Given the description of an element on the screen output the (x, y) to click on. 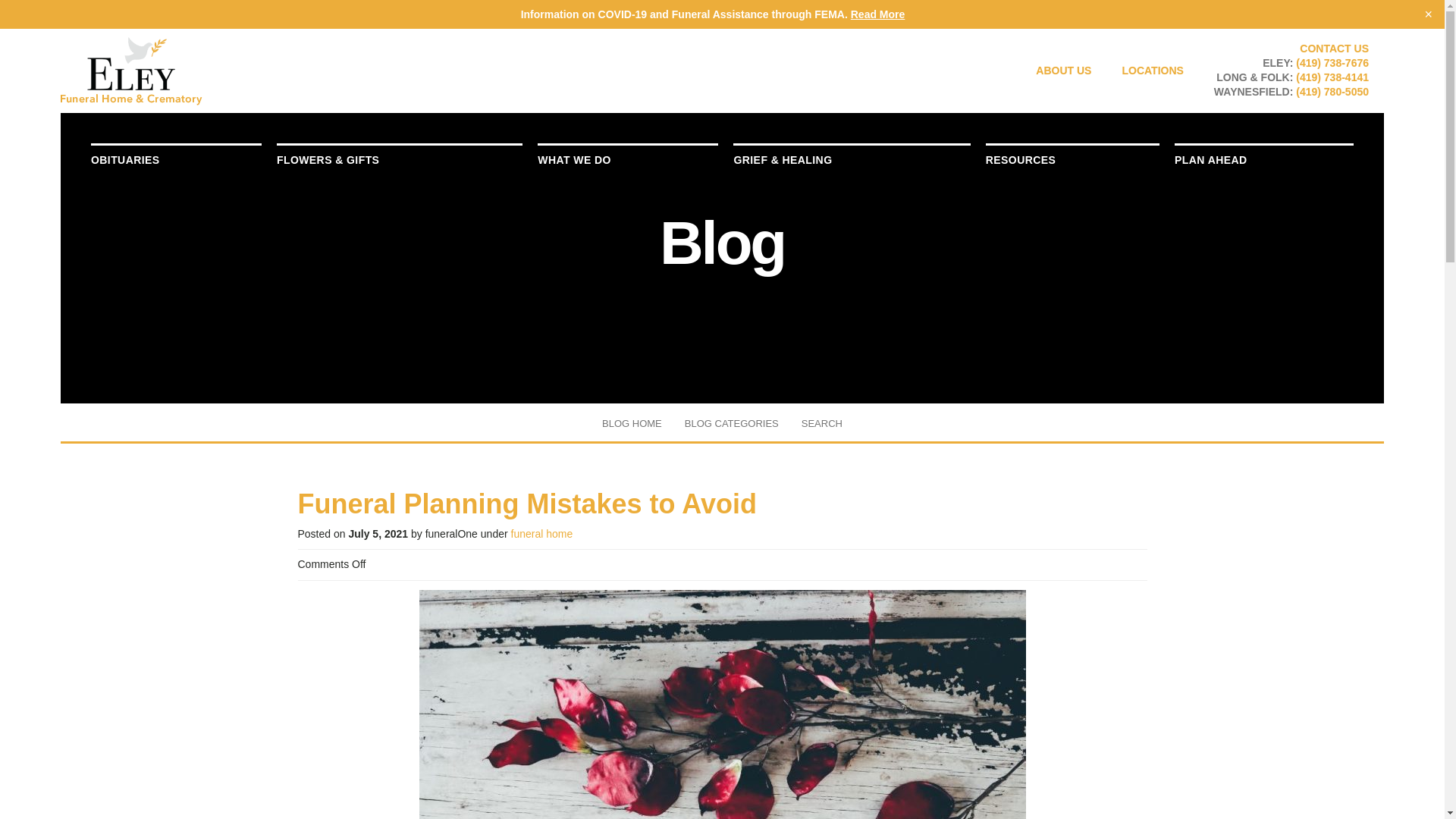
RESOURCES (1071, 159)
ABOUT US (1062, 70)
BLOG HOME (631, 423)
PLAN AHEAD (1264, 159)
SEARCH (821, 423)
Read More (877, 14)
OBITUARIES (176, 159)
CONTACT US (1334, 48)
BLOG CATEGORIES (731, 423)
WHAT WE DO (627, 159)
